Given the description of an element on the screen output the (x, y) to click on. 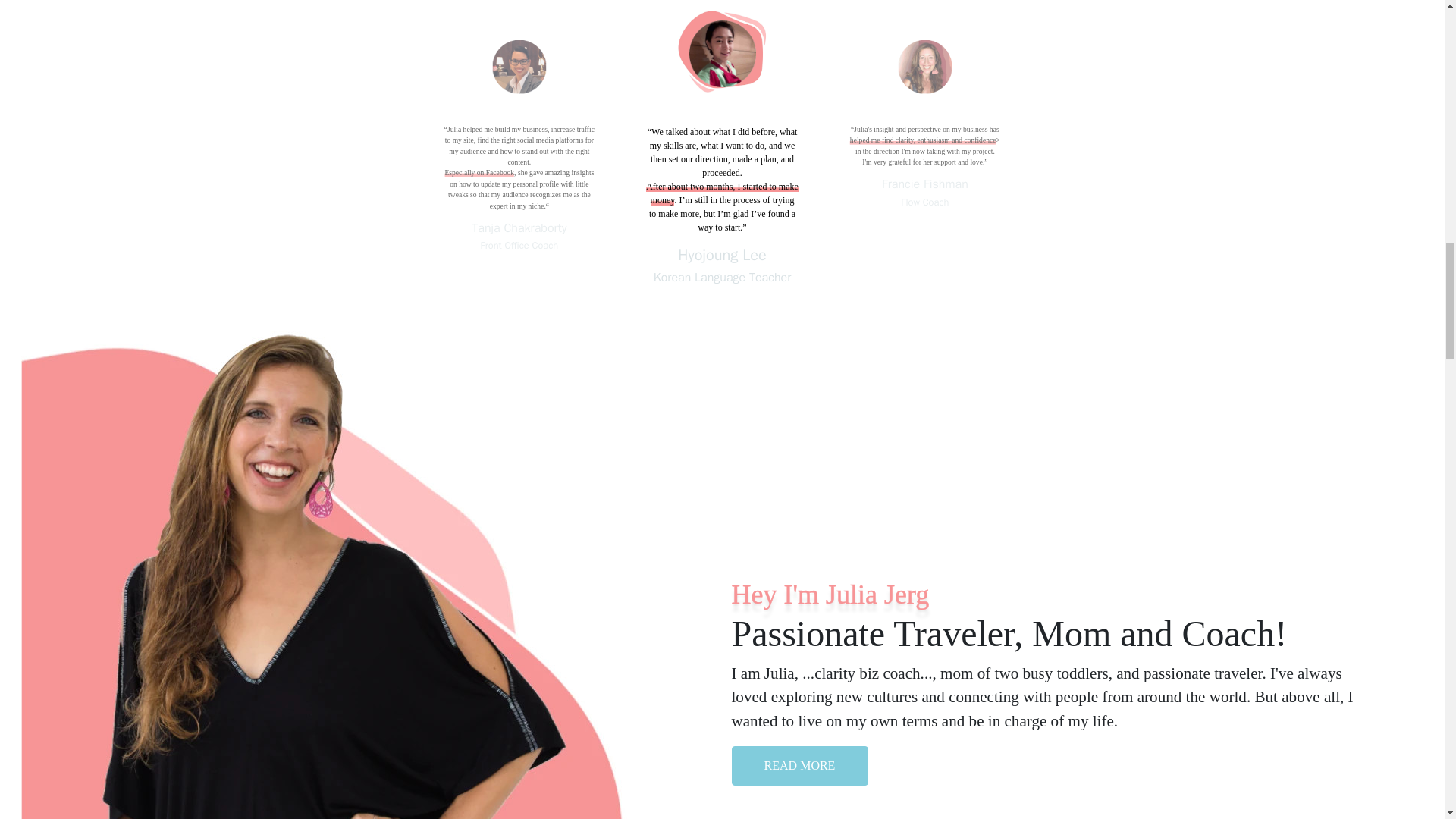
READ MORE (798, 765)
READ MORE (798, 764)
